Given the description of an element on the screen output the (x, y) to click on. 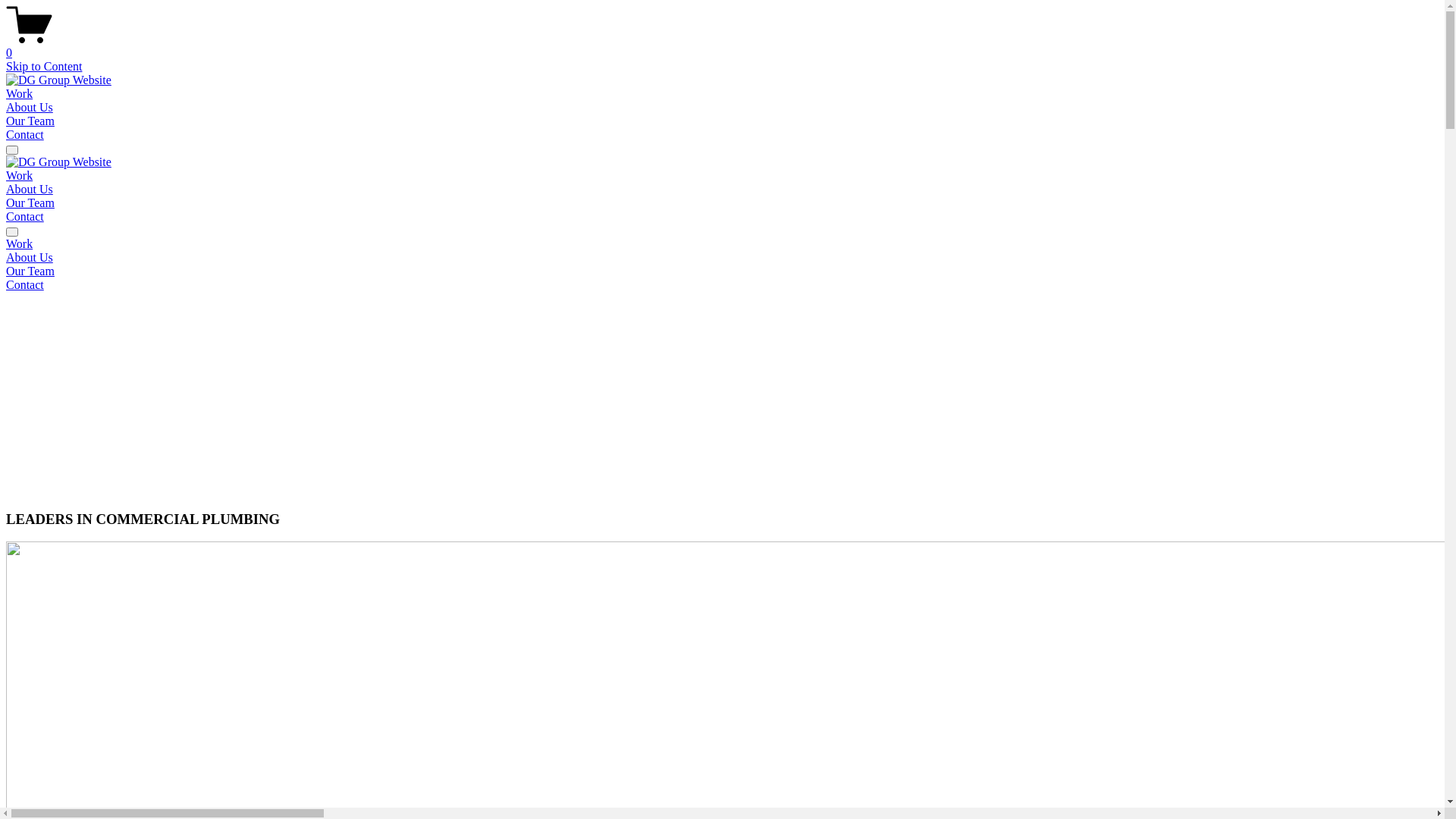
Contact Element type: text (722, 284)
Work Element type: text (19, 93)
Contact Element type: text (24, 216)
About Us Element type: text (722, 257)
Work Element type: text (722, 244)
Work Element type: text (19, 175)
About Us Element type: text (29, 106)
Our Team Element type: text (722, 271)
Contact Element type: text (24, 134)
Skip to Content Element type: text (43, 65)
About Us Element type: text (29, 188)
Our Team Element type: text (30, 202)
Our Team Element type: text (30, 120)
0 Element type: text (722, 45)
